Given the description of an element on the screen output the (x, y) to click on. 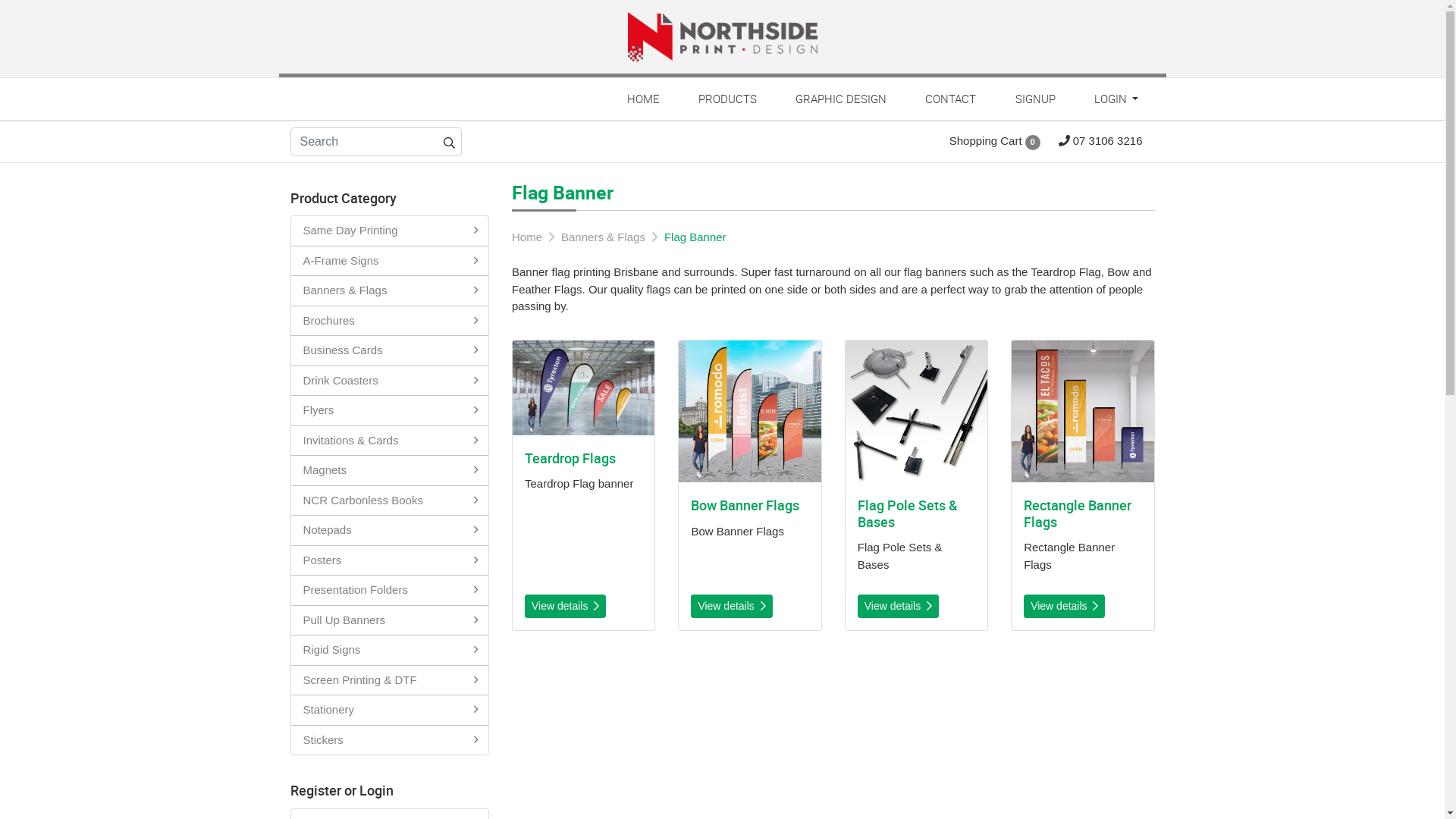
Screen Printing & DTF Element type: text (390, 680)
View details Element type: text (897, 606)
Flag Pole Sets & Bases Element type: hover (916, 411)
Home Element type: text (526, 236)
Notepads Element type: text (390, 530)
Business Cards Element type: text (390, 350)
View details Element type: text (730, 606)
07 3106 3216 Element type: text (1100, 140)
Brochures Element type: text (390, 320)
Stickers Element type: text (390, 740)
View details Element type: text (564, 606)
Banners & Flags Element type: text (390, 290)
Rectangle Banner Flags Element type: hover (1082, 411)
GRAPHIC DESIGN Element type: text (841, 98)
Same Day Printing Element type: text (390, 230)
NCR Carbonless Books Element type: text (390, 500)
PRODUCTS Element type: text (726, 98)
Pull Up Banners Element type: text (390, 620)
Teardrop Flags Element type: hover (583, 387)
A-Frame Signs Element type: text (390, 261)
Drink Coasters Element type: text (390, 380)
Stationery Element type: text (390, 709)
SIGNUP Element type: text (1034, 98)
Rigid Signs Element type: text (390, 650)
Posters Element type: text (390, 560)
Bow Banner Flags Element type: hover (749, 411)
Banners & Flags Element type: text (603, 236)
CONTACT Element type: text (950, 98)
Magnets Element type: text (390, 470)
<i class='fal fa-unlock pr-1'></i> Login Element type: text (1117, 131)
Invitations & Cards Element type: text (390, 440)
Flyers Element type: text (390, 410)
Shopping Cart 0 Element type: text (994, 140)
Presentation Folders Element type: text (390, 590)
LOGIN Element type: text (1114, 98)
View details Element type: text (1063, 606)
HOME Element type: text (642, 98)
